Given the description of an element on the screen output the (x, y) to click on. 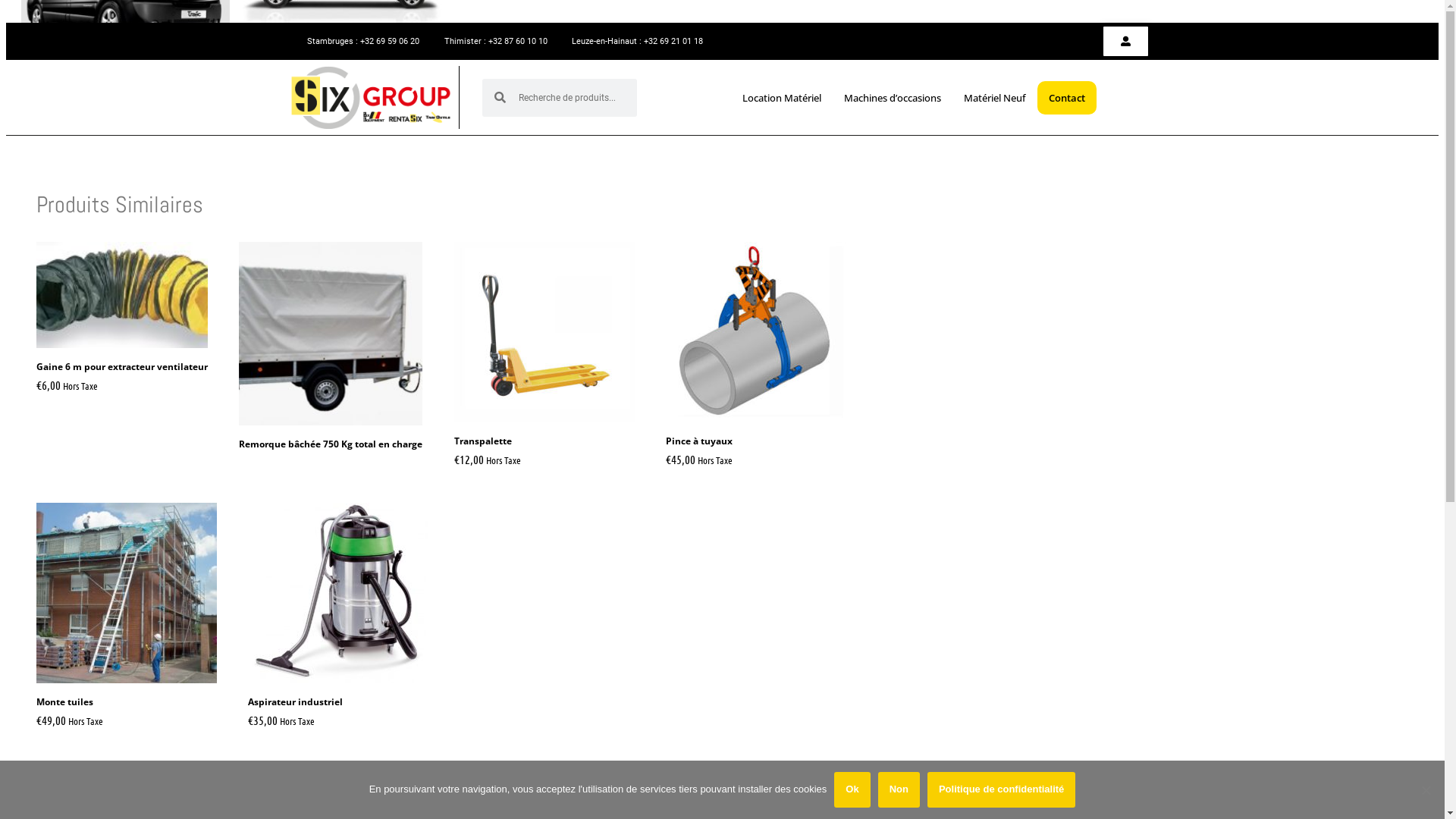
Ok Element type: text (851, 789)
Non Element type: text (898, 789)
Contact Element type: text (1066, 97)
Se connecter Element type: text (1056, 41)
Leuze-en-Hainaut : +32 69 21 01 18 Element type: text (629, 41)
Search Element type: hover (570, 97)
Thimister : +32 87 60 10 10 Element type: text (486, 41)
Aller au contenu Element type: text (53, 14)
Stambruges : +32 69 59 06 20 Element type: text (354, 41)
